Given the description of an element on the screen output the (x, y) to click on. 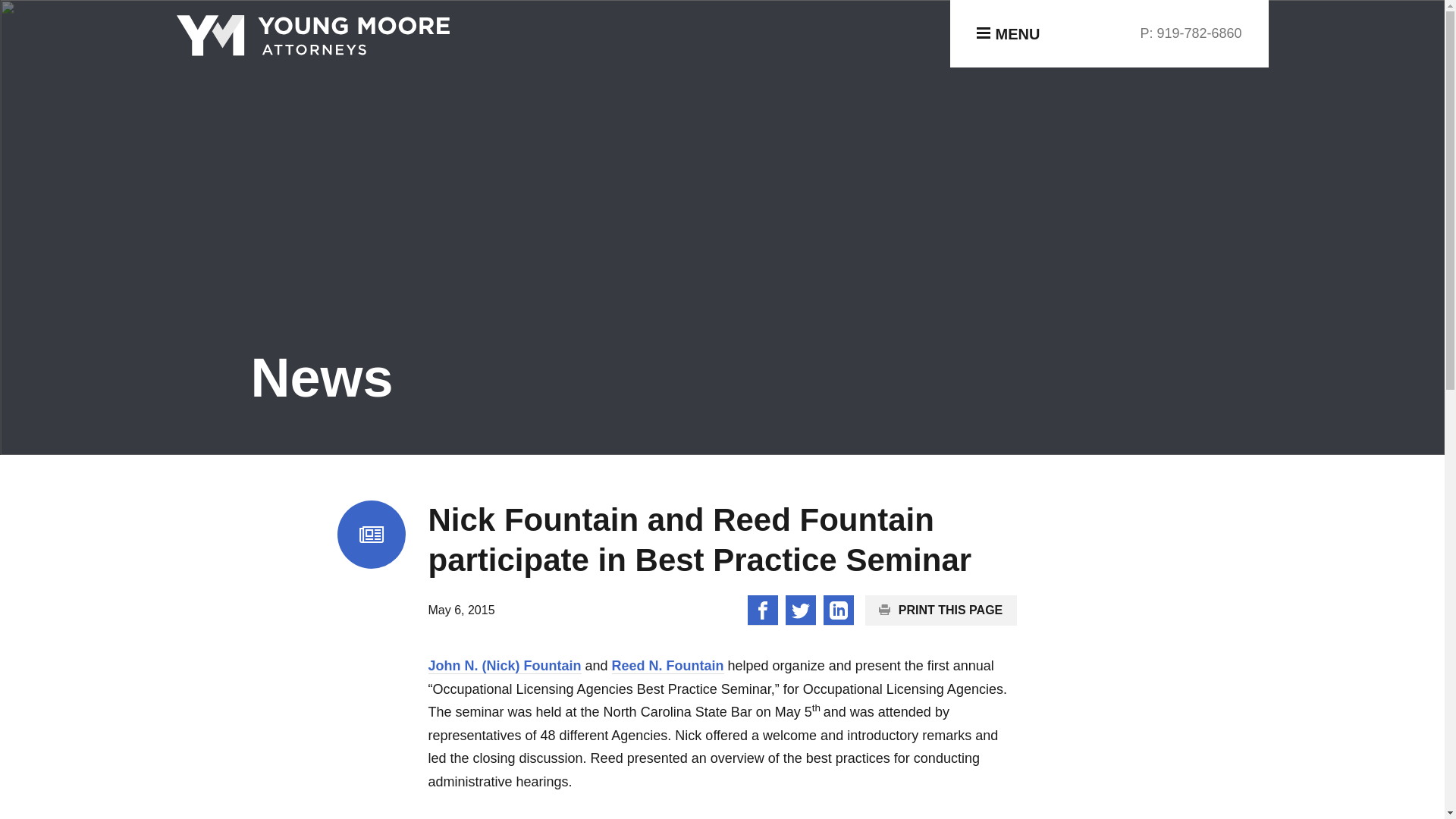
PRINT THIS PAGE (940, 610)
MENU (1010, 33)
Reed N. Fountain (667, 666)
